Given the description of an element on the screen output the (x, y) to click on. 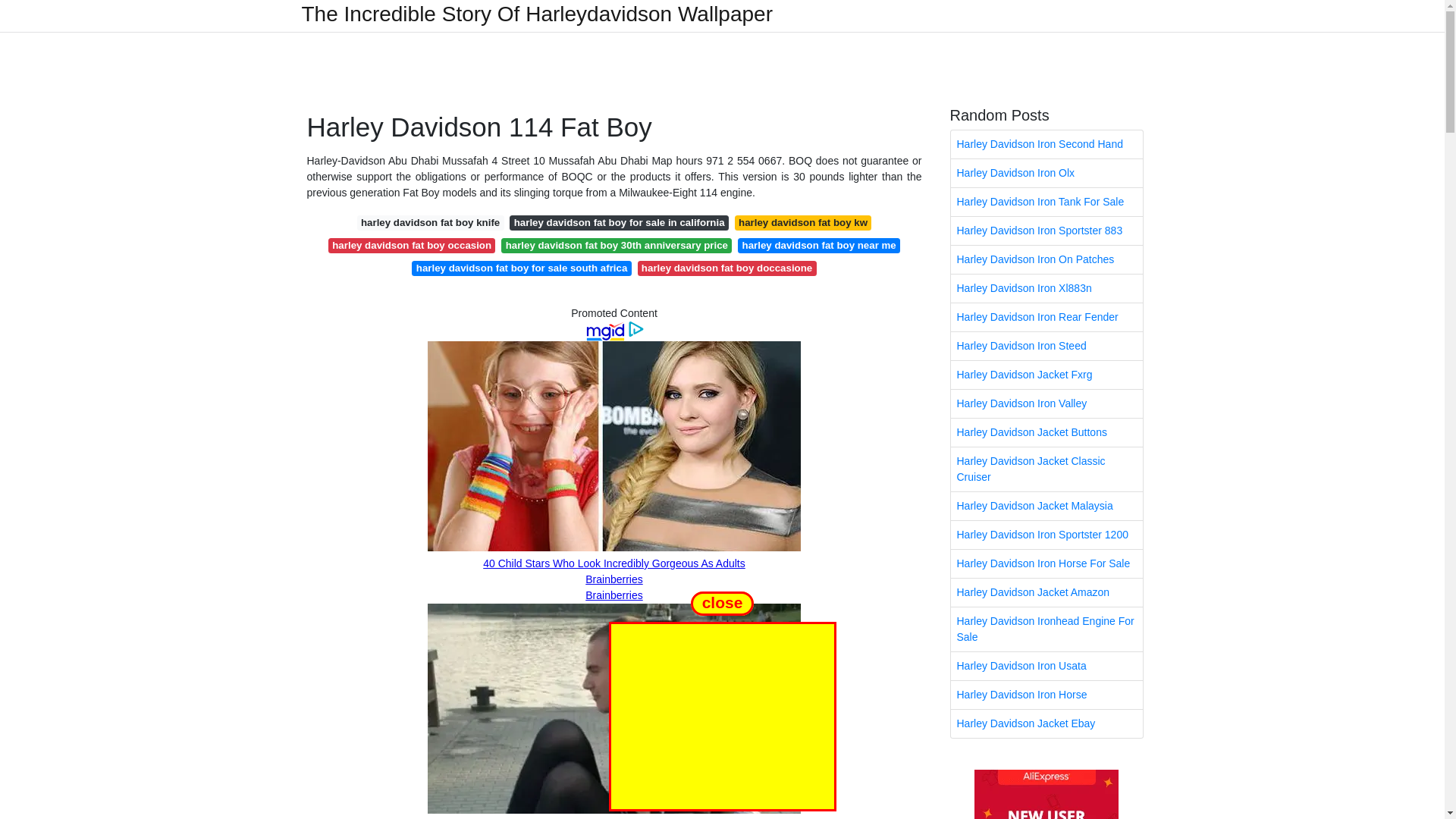
harley davidson fat boy kw (803, 222)
Harley Davidson Iron Steed (1046, 346)
Harley Davidson Iron Xl883n (1046, 288)
Harley Davidson Iron Second Hand (1046, 144)
Harley Davidson Jacket Fxrg (1046, 375)
Harley Davidson Iron On Patches (1046, 259)
harley davidson fat boy 30th anniversary price (616, 245)
harley davidson fat boy knife (429, 222)
harley davidson fat boy near me (818, 245)
Harley Davidson Iron Sportster 883 (1046, 230)
Harley Davidson Iron Valley (1046, 403)
harley davidson fat boy for sale in california (618, 222)
Harley Davidson Iron Olx (1046, 172)
harley davidson fat boy doccasione (726, 268)
Harley Davidson Iron Tank For Sale (1046, 202)
